Given the description of an element on the screen output the (x, y) to click on. 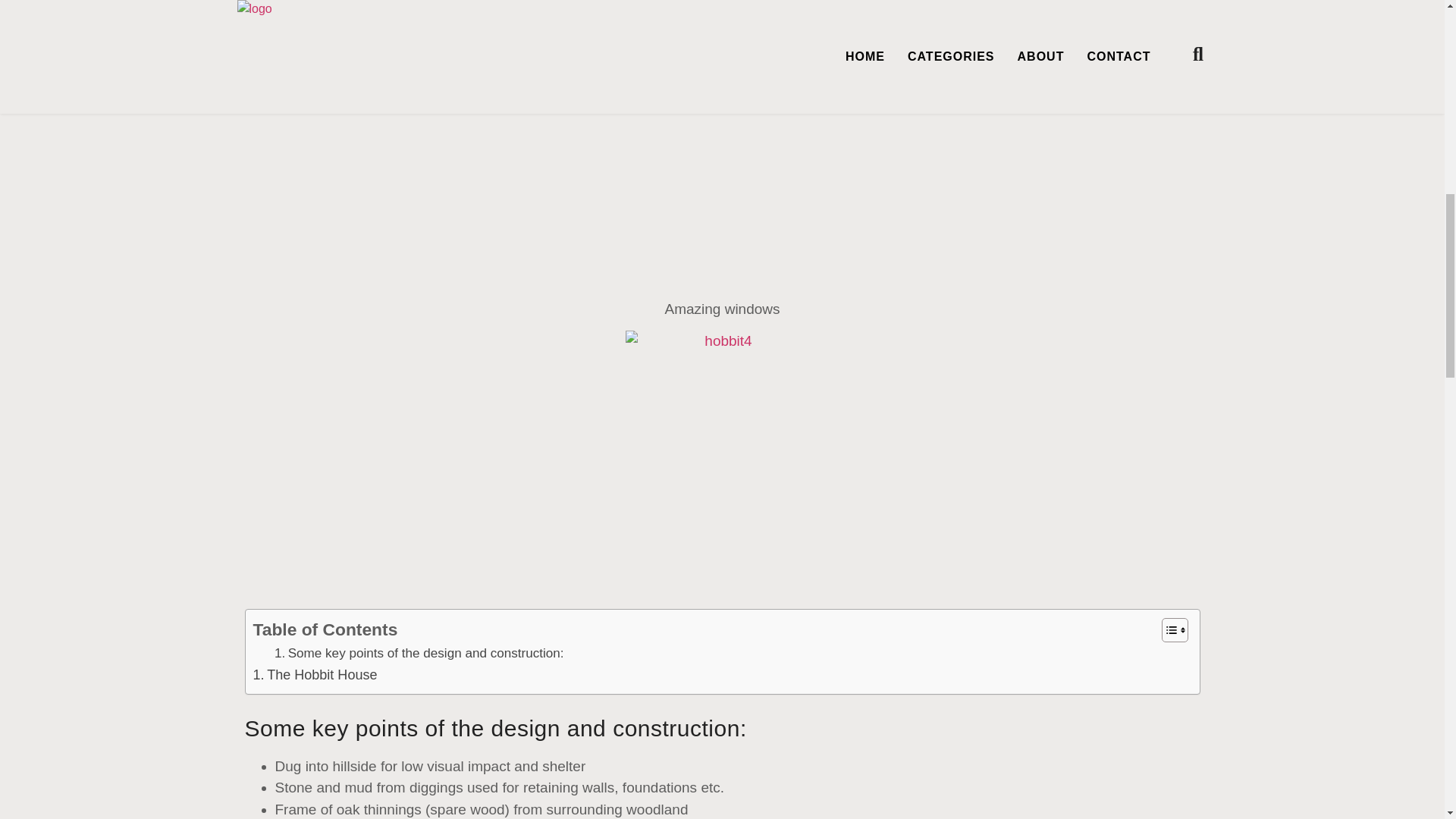
Some key points of the design and construction: (419, 652)
The Hobbit House (315, 675)
